Given the description of an element on the screen output the (x, y) to click on. 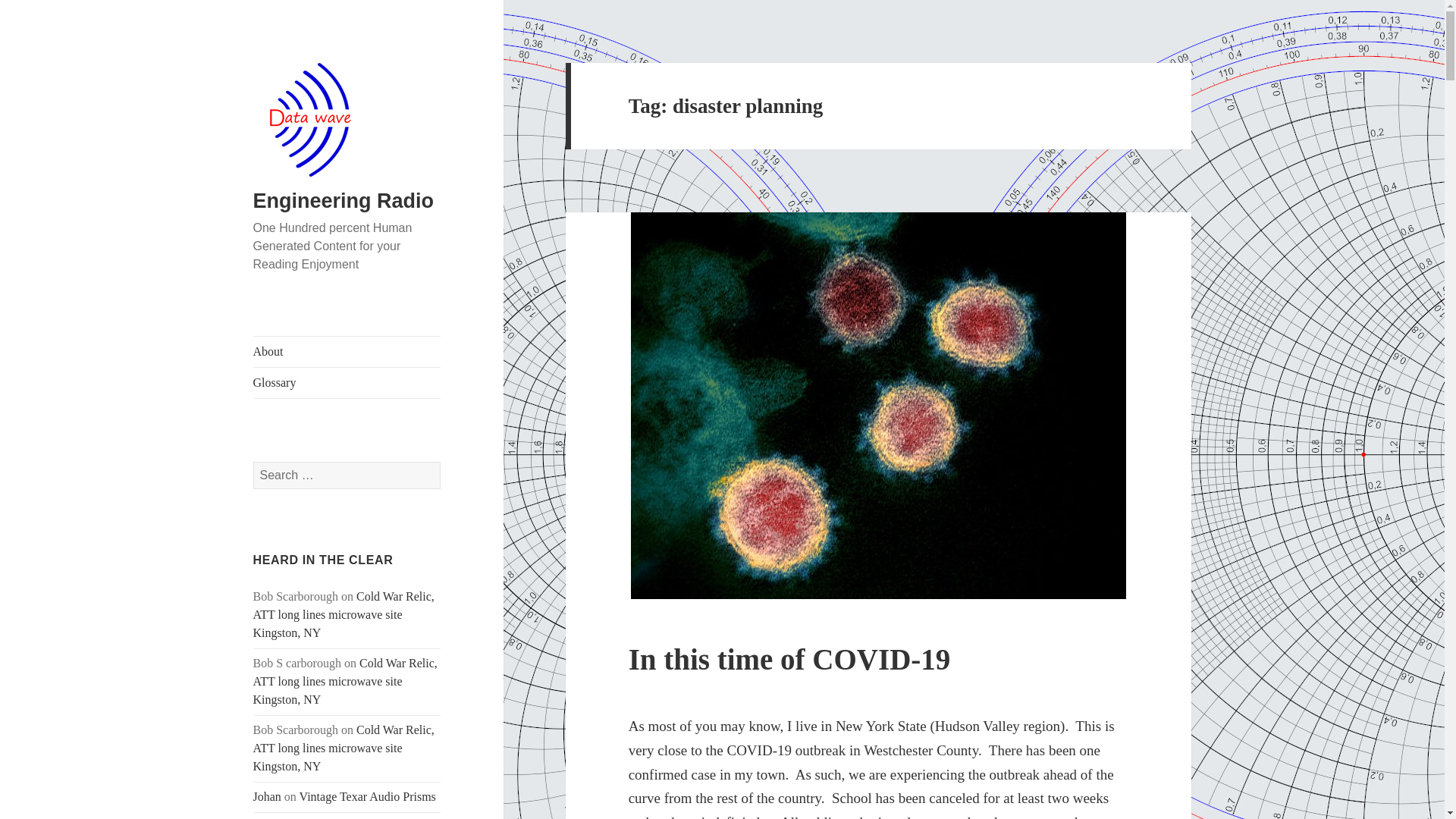
About (347, 351)
Glossary (347, 382)
Cold War Relic, ATT long lines microwave site Kingston, NY (343, 748)
Cold War Relic, ATT long lines microwave site Kingston, NY (343, 614)
Vintage Texar Audio Prisms (367, 796)
Johan (267, 796)
Engineering Radio (343, 200)
Cold War Relic, ATT long lines microwave site Kingston, NY (345, 680)
